Given the description of an element on the screen output the (x, y) to click on. 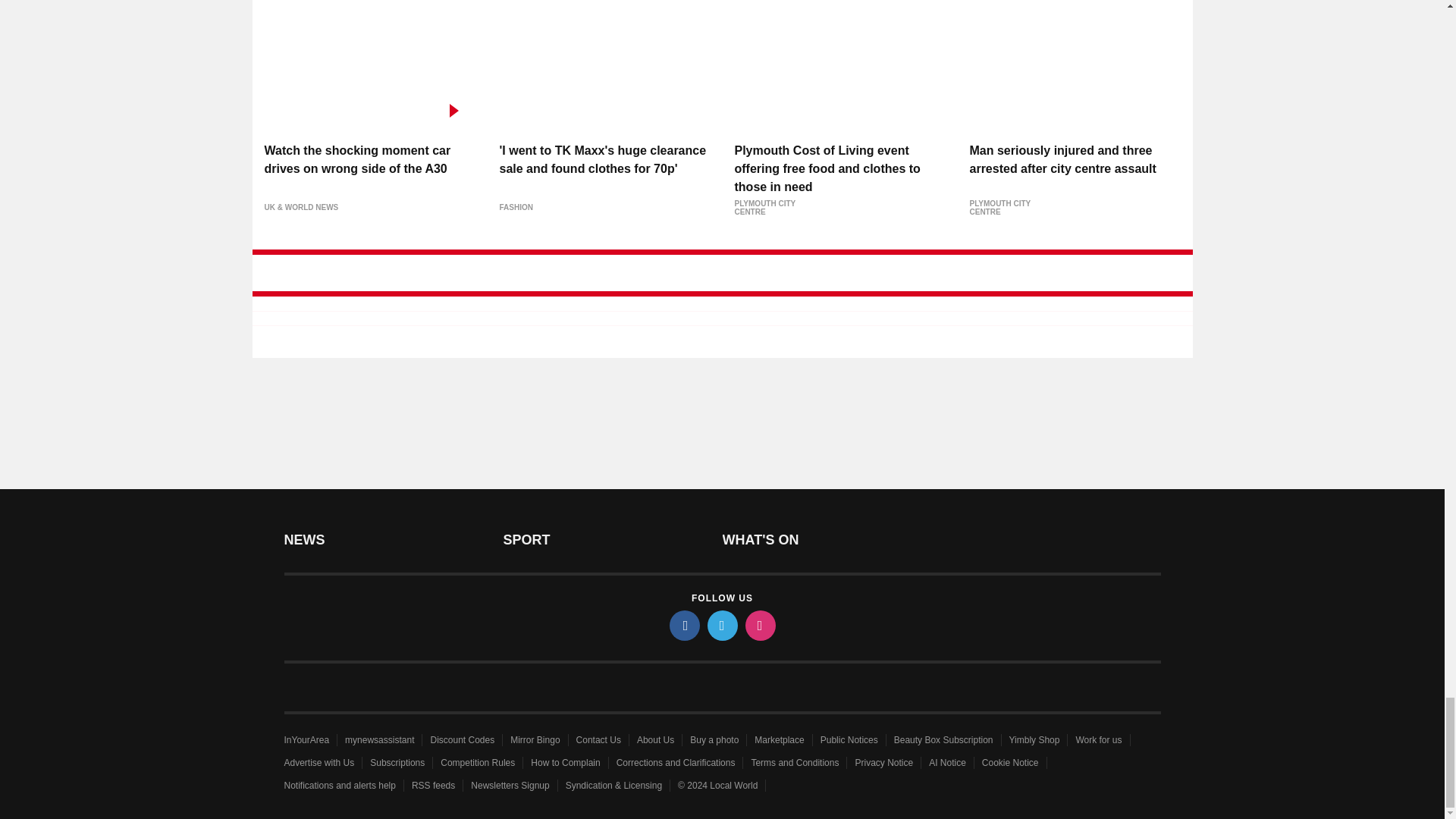
twitter (721, 625)
instagram (759, 625)
facebook (683, 625)
